Given the description of an element on the screen output the (x, y) to click on. 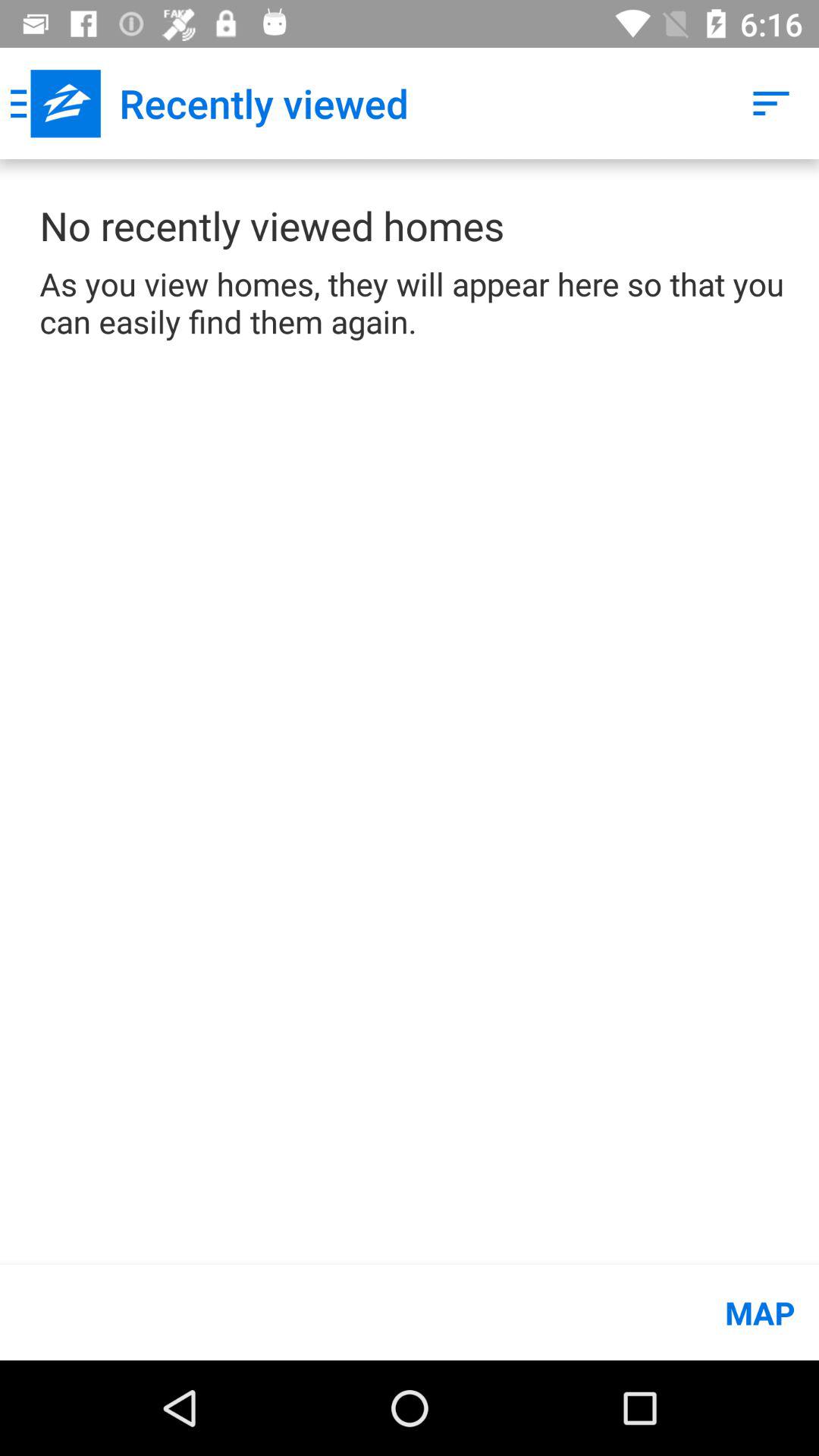
open item above the no recently viewed item (55, 103)
